Given the description of an element on the screen output the (x, y) to click on. 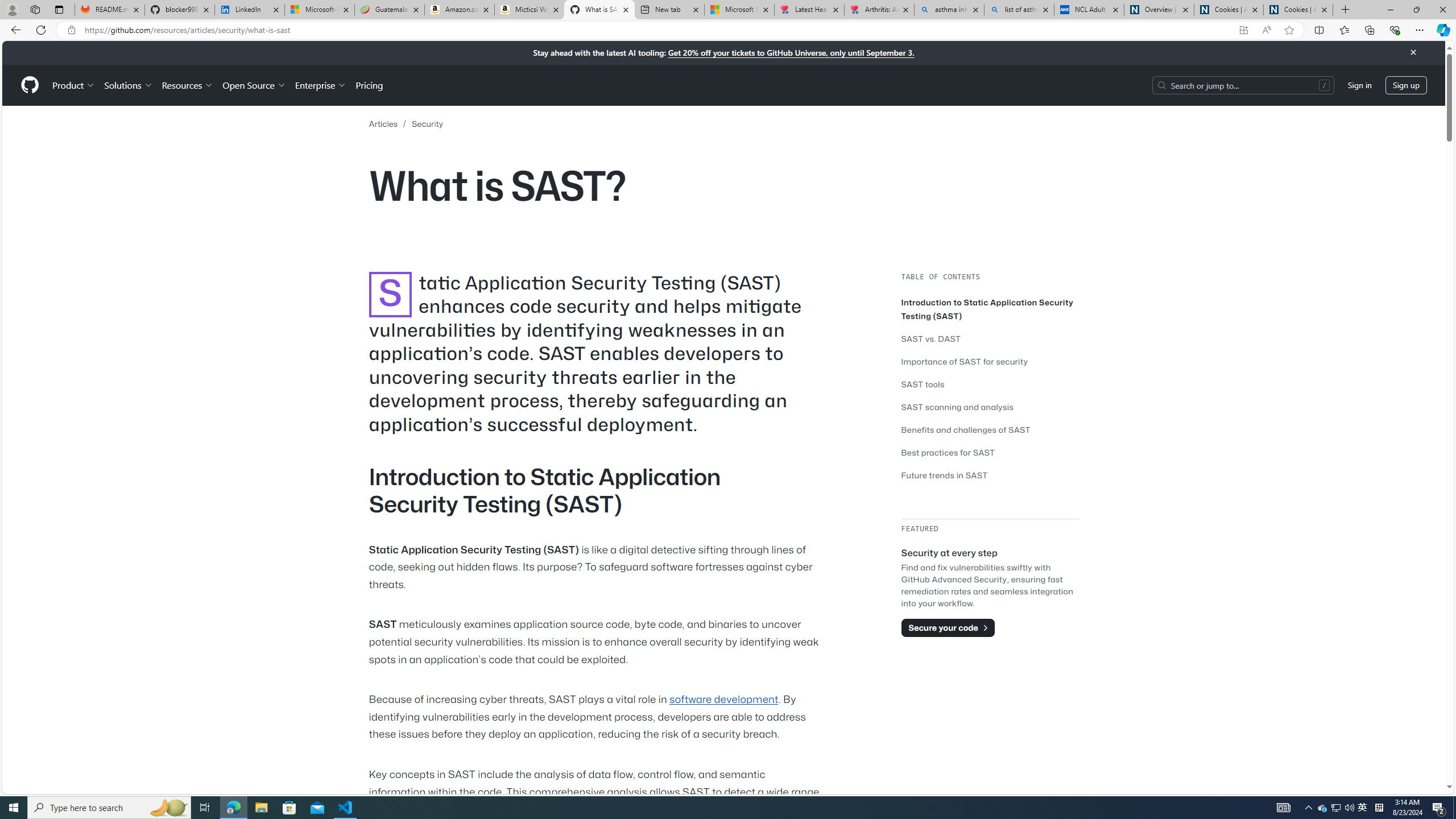
SAST vs. DAST (989, 338)
Security (427, 123)
Cookies | About | NICE (1297, 9)
Benefits and challenges of SAST (989, 429)
Articles (382, 123)
